Given the description of an element on the screen output the (x, y) to click on. 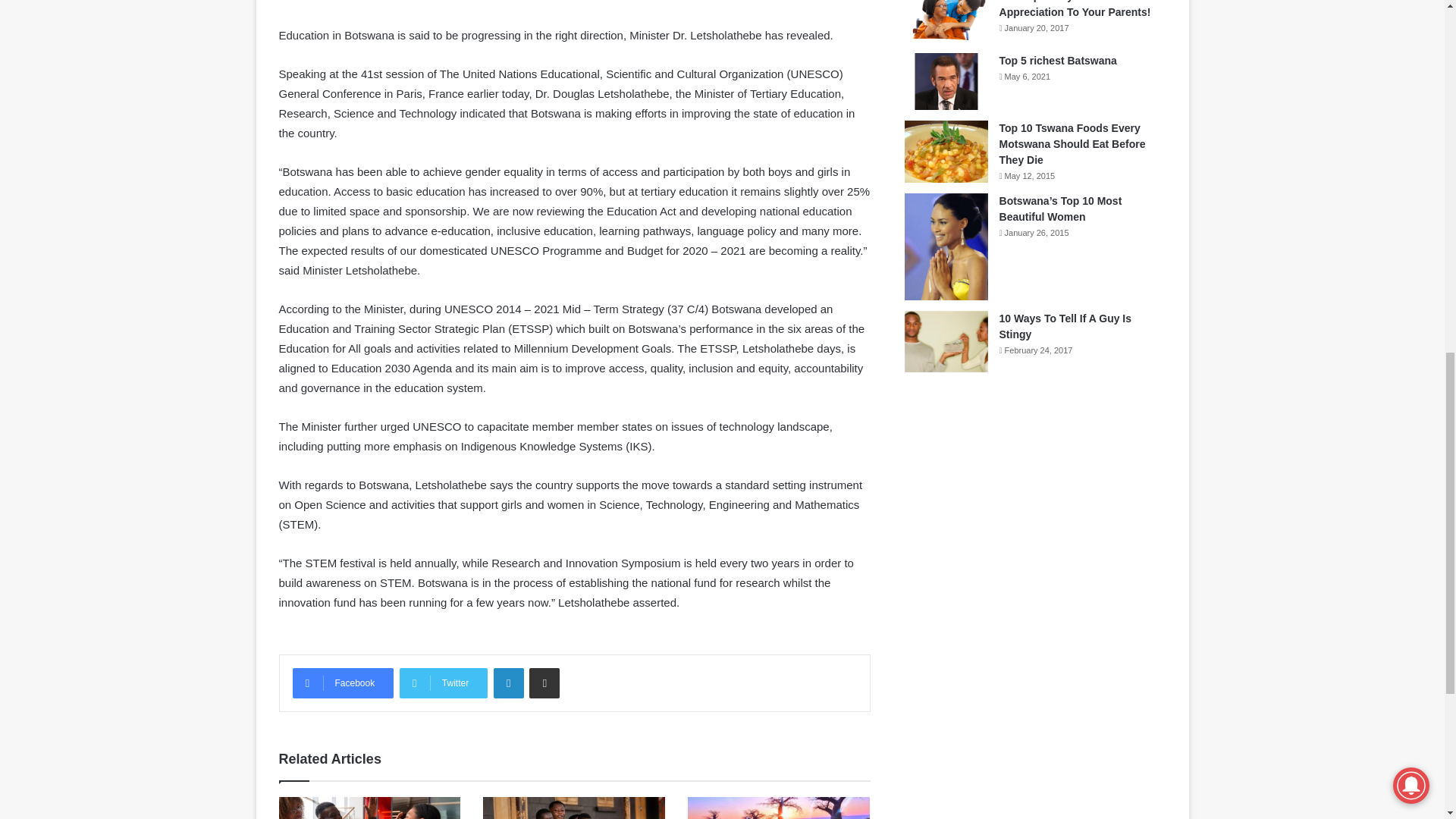
Share via Email (544, 683)
LinkedIn (508, 683)
Twitter (442, 683)
Facebook (343, 683)
Share via Email (544, 683)
LinkedIn (508, 683)
Twitter (442, 683)
Facebook (343, 683)
